Given the description of an element on the screen output the (x, y) to click on. 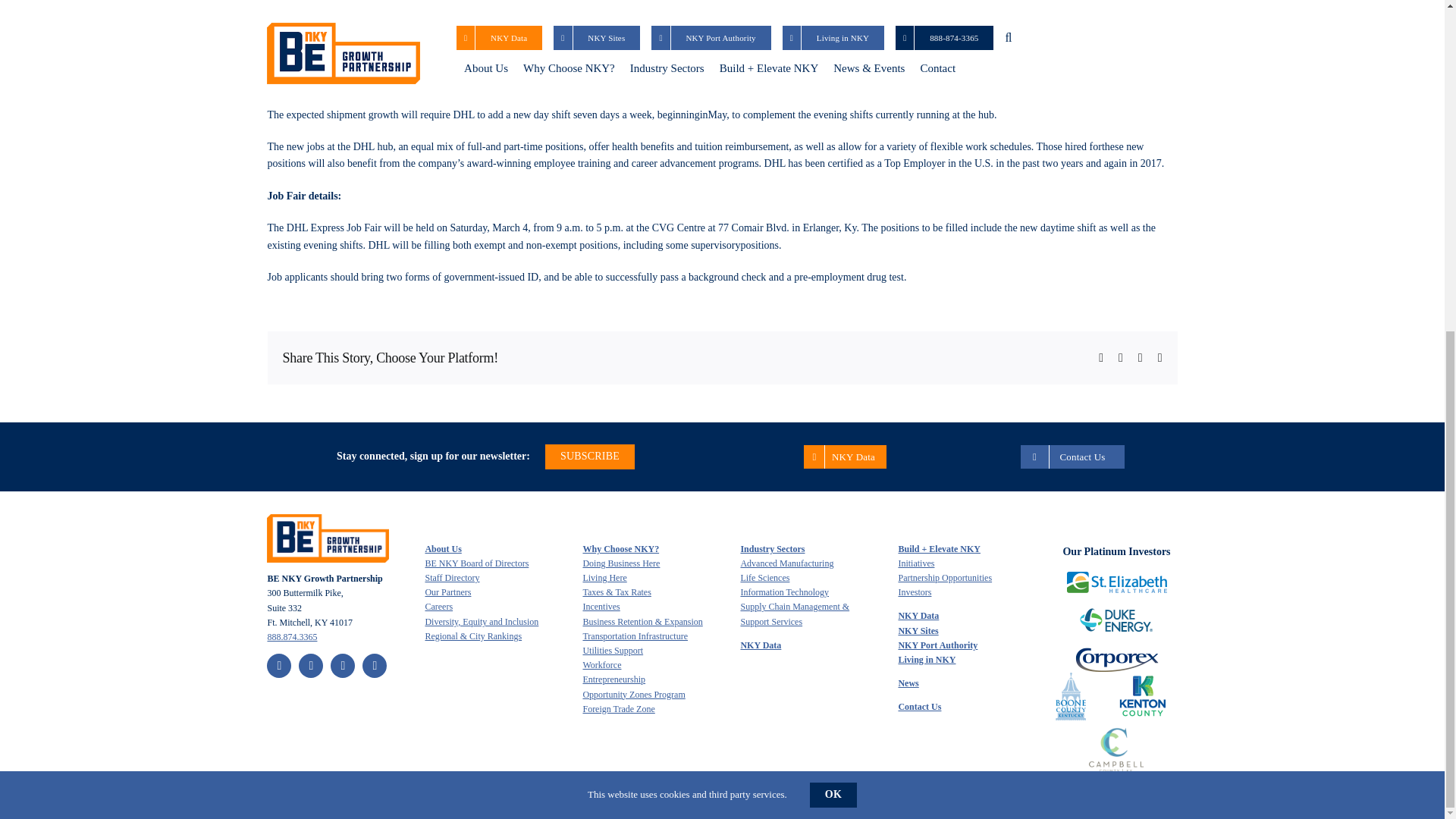
X (310, 665)
corporex (1116, 659)
YouTube (342, 665)
duke-energy (1116, 620)
kenton-county (1142, 695)
Facebook (278, 665)
stelizabeth (1115, 581)
LinkedIn (374, 665)
